Given the description of an element on the screen output the (x, y) to click on. 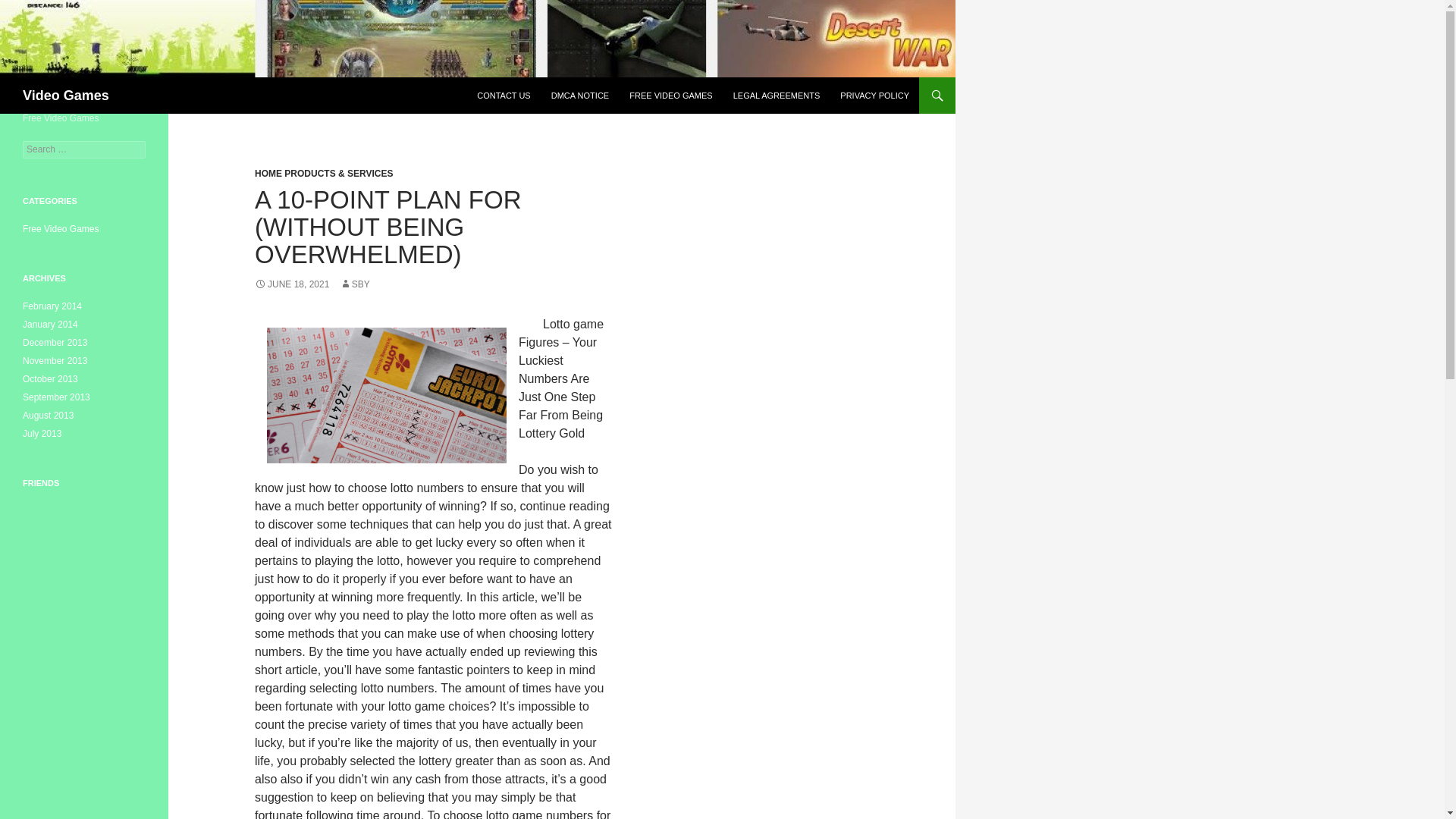
August 2013 (48, 415)
Free Video Games (61, 228)
CONTACT US (503, 94)
Video Games (66, 95)
October 2013 (50, 378)
December 2013 (55, 342)
DMCA NOTICE (579, 94)
November 2013 (55, 360)
JUNE 18, 2021 (291, 284)
PRIVACY POLICY (874, 94)
Search for: (84, 149)
LEGAL AGREEMENTS (776, 94)
September 2013 (56, 397)
Search (30, 8)
